Given the description of an element on the screen output the (x, y) to click on. 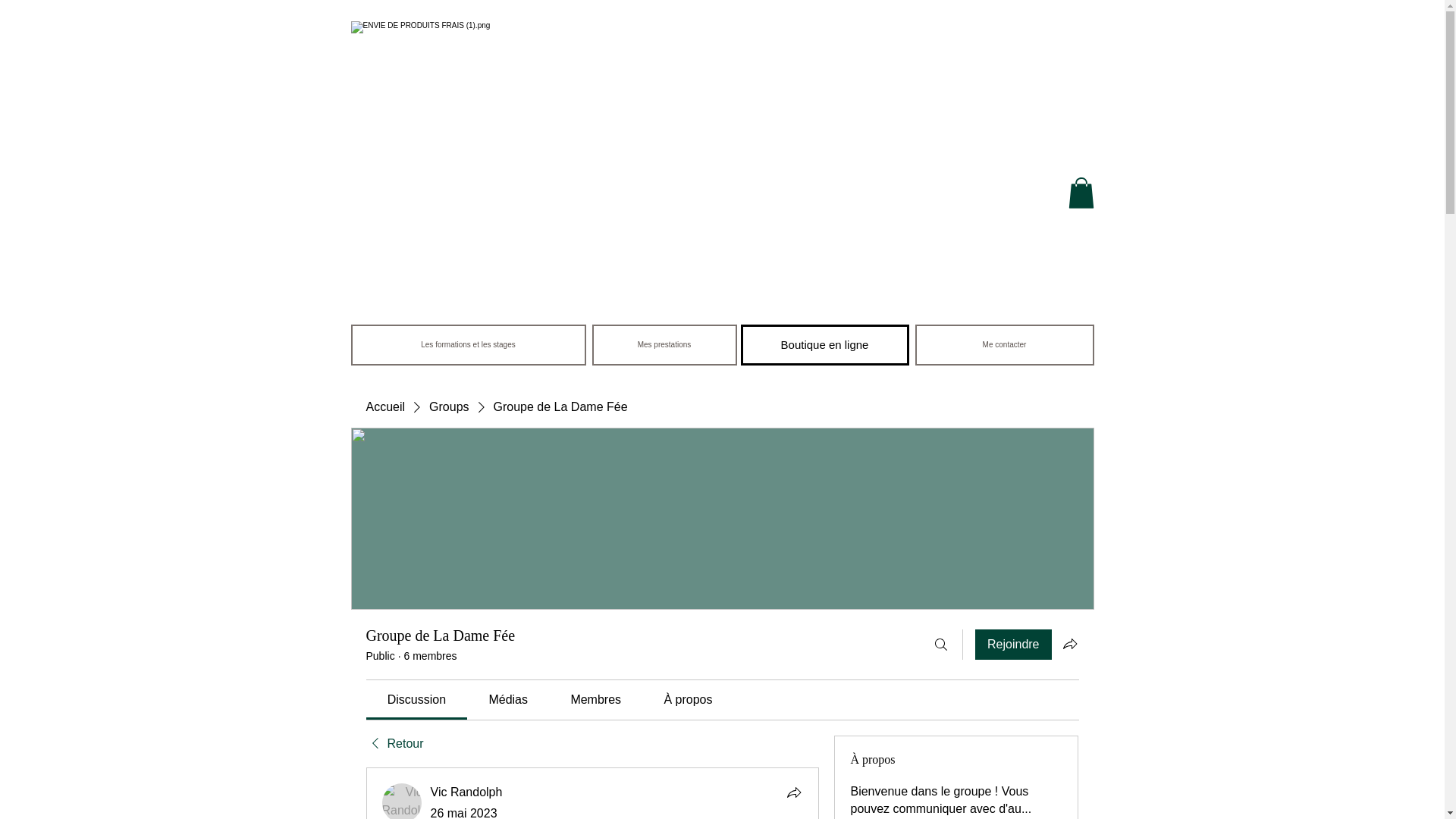
Vic Randolph (401, 800)
Vic Randolph (466, 791)
Rejoindre (1013, 644)
Groups (448, 406)
Me contacter (1003, 344)
Retour (394, 743)
Les formations et les stages (467, 344)
Accueil (384, 406)
26 mai 2023 (463, 812)
Mes prestations (663, 344)
